Given the description of an element on the screen output the (x, y) to click on. 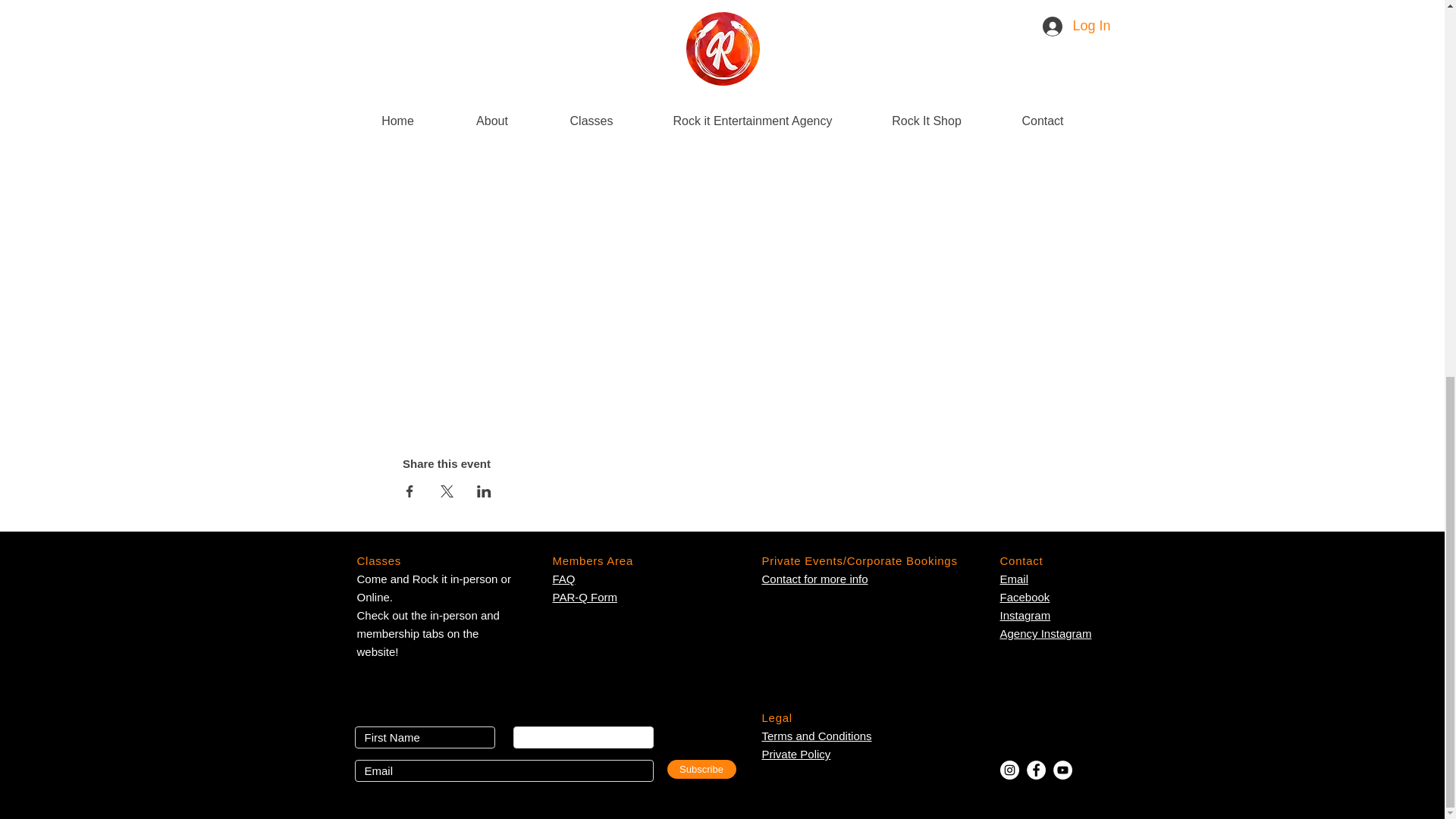
PAR-Q Form (584, 596)
Terms and Conditions (815, 735)
Email (1012, 578)
FAQ (563, 578)
Private Policy (1044, 624)
Facebook (795, 753)
Contact for more info (1023, 596)
More info (814, 578)
Subscribe (434, 7)
Checkout (701, 769)
Members Area (914, 94)
